Given the description of an element on the screen output the (x, y) to click on. 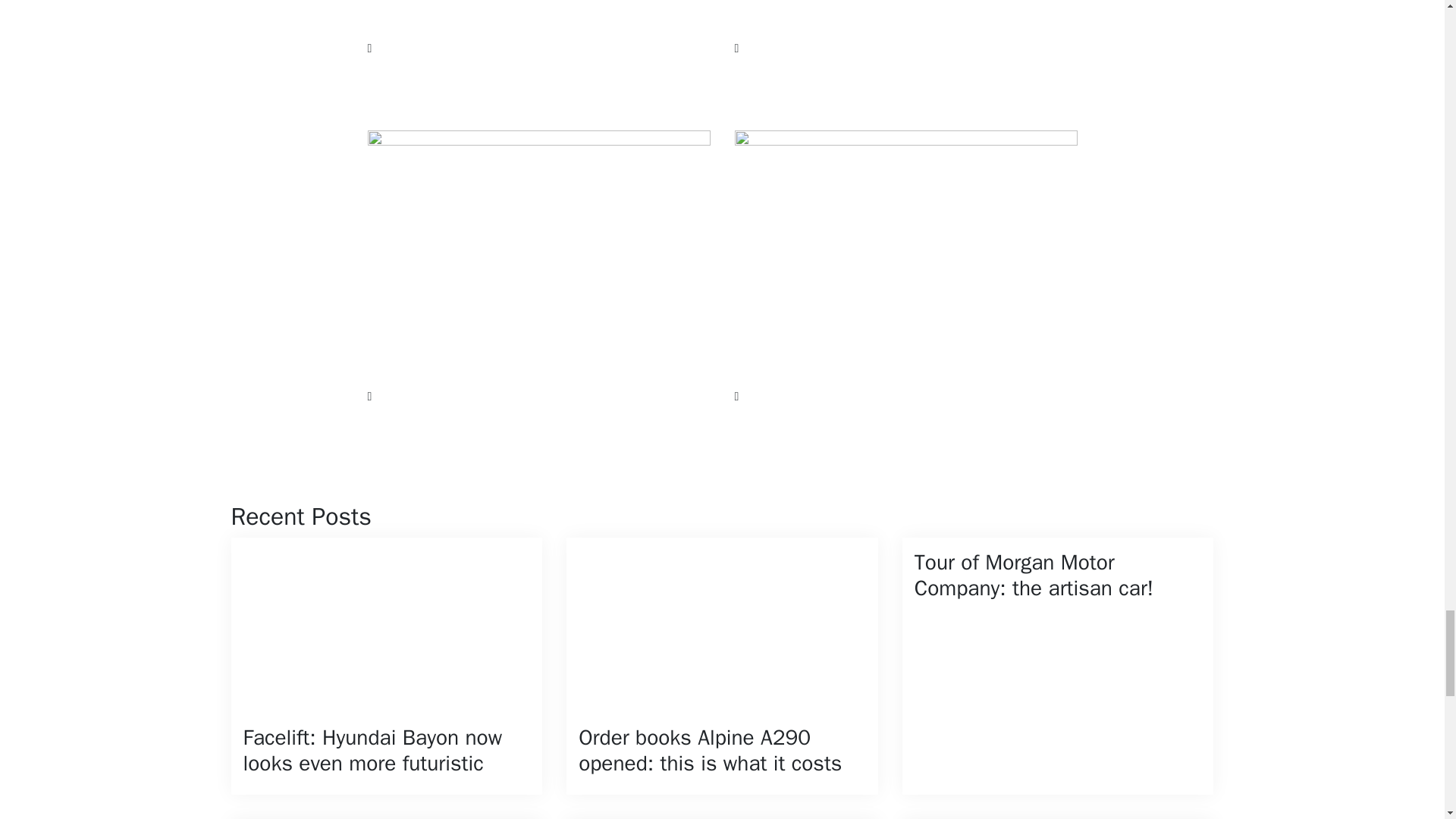
Order books Alpine A290 opened: this is what it costs (721, 665)
Tour of Morgan Motor Company: the artisan car! (1058, 665)
Facelift: Hyundai Bayon now looks even more futuristic (385, 665)
